Given the description of an element on the screen output the (x, y) to click on. 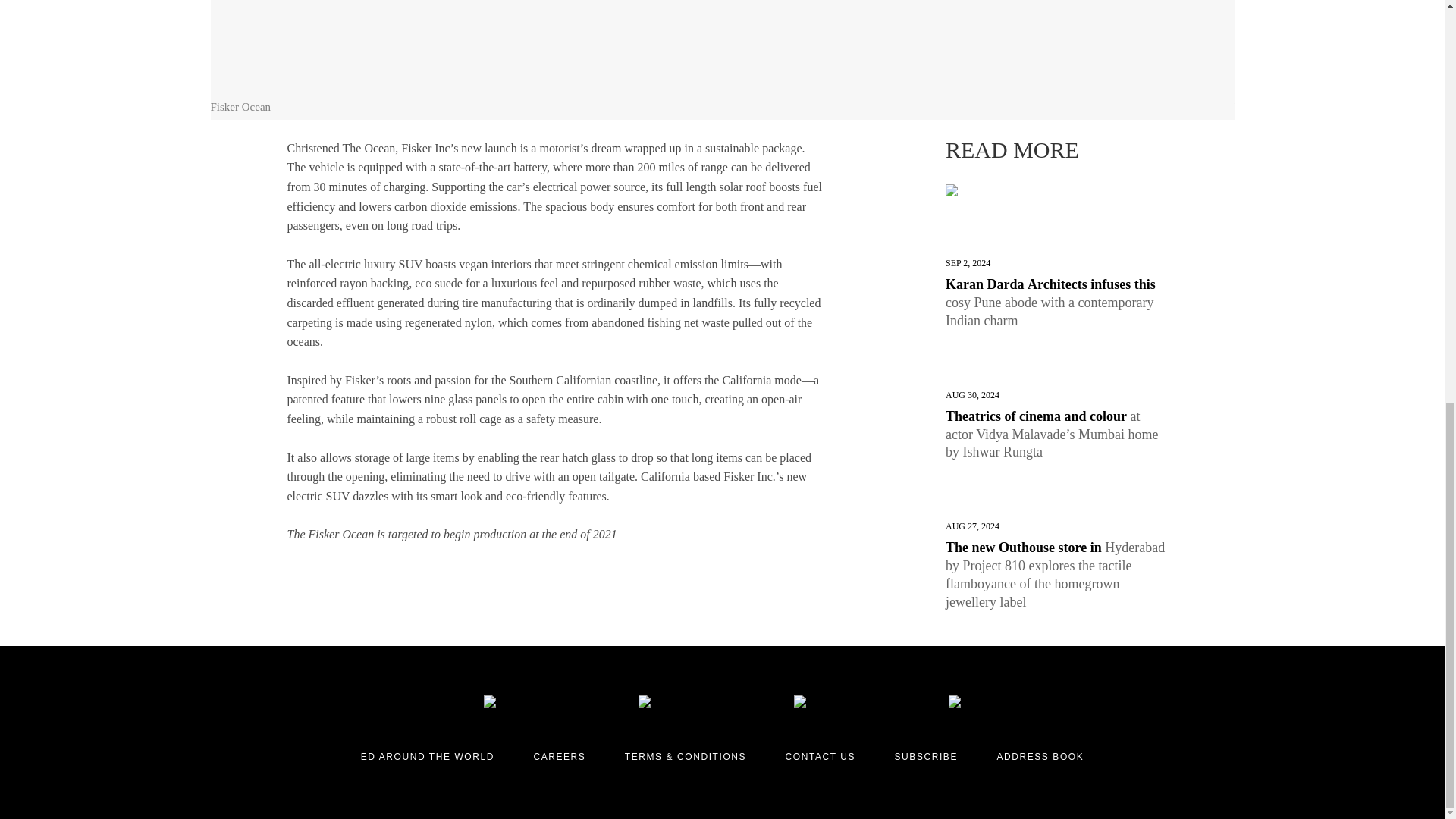
CONTACT US (821, 756)
SUBSCRIBE (926, 756)
ED AROUND THE WORLD (428, 756)
CAREERS (558, 756)
